Given the description of an element on the screen output the (x, y) to click on. 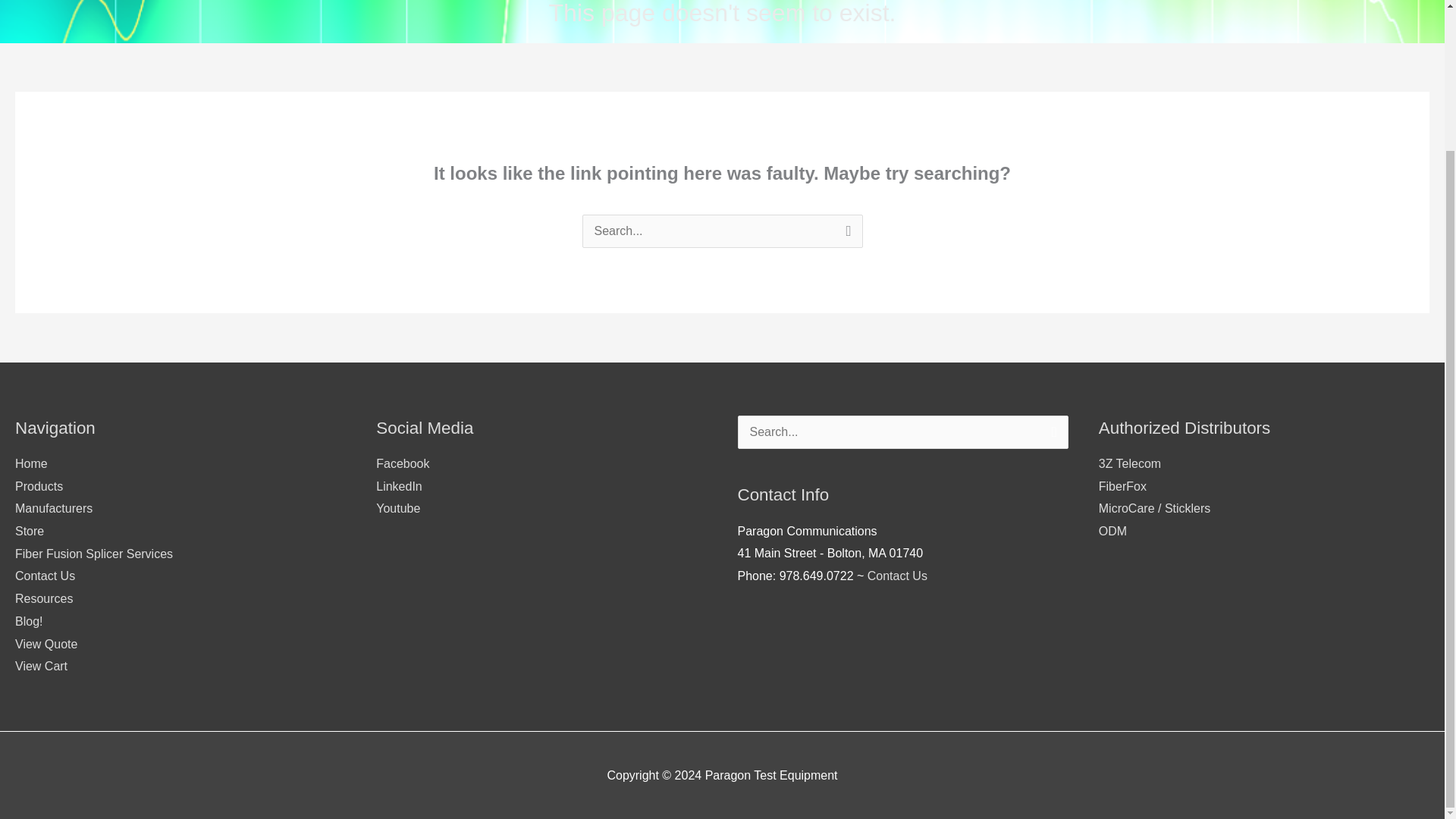
Blog! (28, 621)
3Z Telecom (1129, 463)
Home (31, 463)
ODM (1112, 530)
Manufacturers (53, 508)
Resources (43, 598)
Products (38, 486)
Youtube (397, 508)
Fiber Fusion Splicer Services (93, 553)
Store (28, 530)
Contact Us (897, 575)
FiberFox (1123, 486)
View Cart (40, 666)
LinkedIn (398, 486)
Contact Us (44, 575)
